Given the description of an element on the screen output the (x, y) to click on. 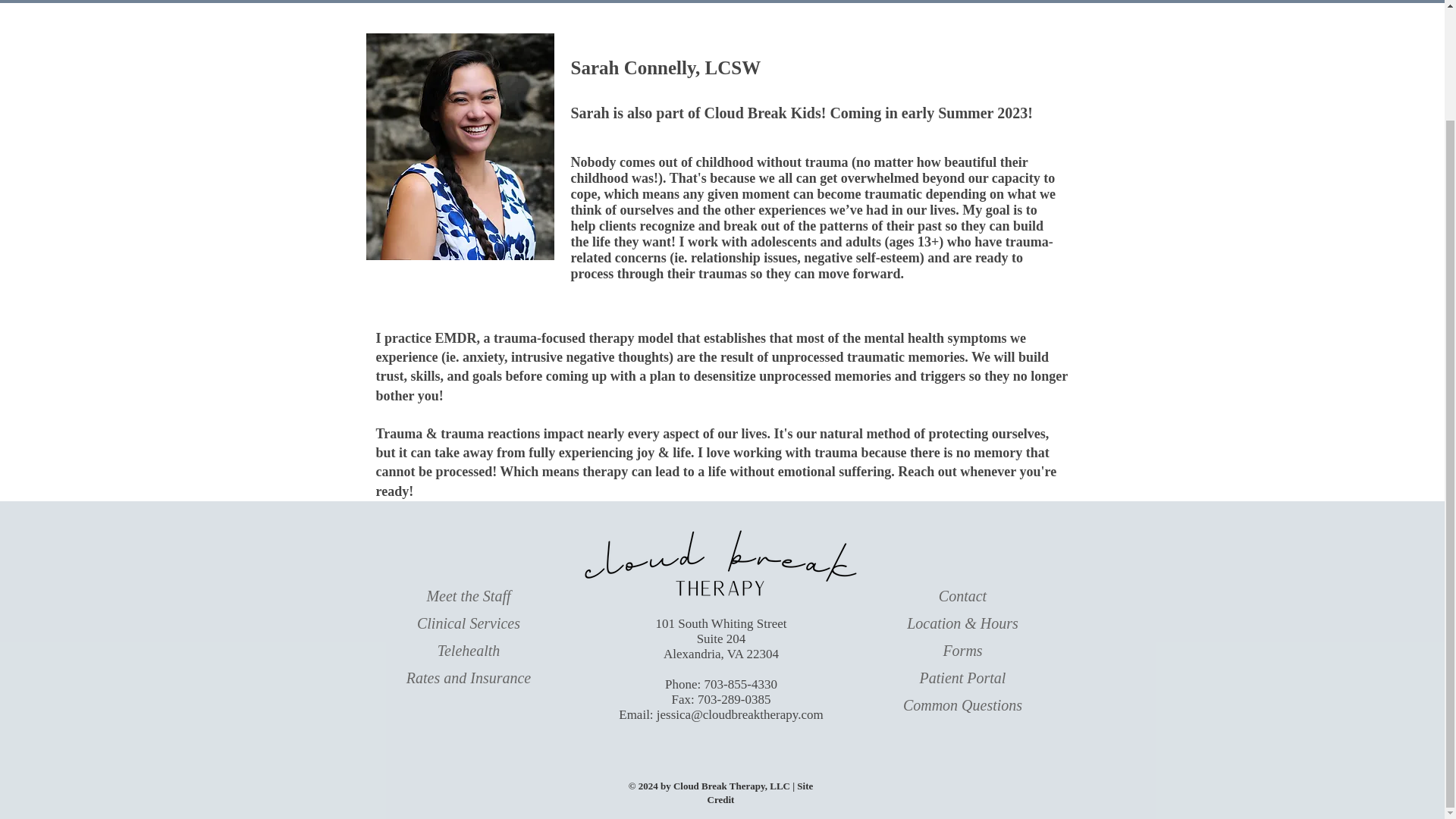
Rates and Insurance (468, 677)
Telehealth (469, 650)
Meet the Staff (468, 596)
Patient Portal (963, 677)
Site Credit (760, 792)
Contact (963, 596)
Clinical Services (467, 623)
Forms (961, 650)
Common Questions (962, 704)
